Given the description of an element on the screen output the (x, y) to click on. 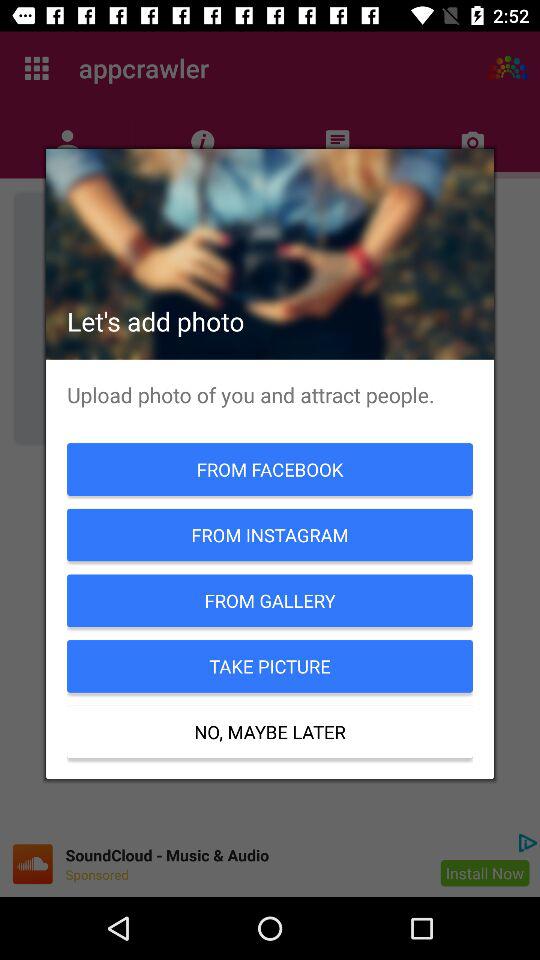
scroll to from facebook (269, 469)
